Given the description of an element on the screen output the (x, y) to click on. 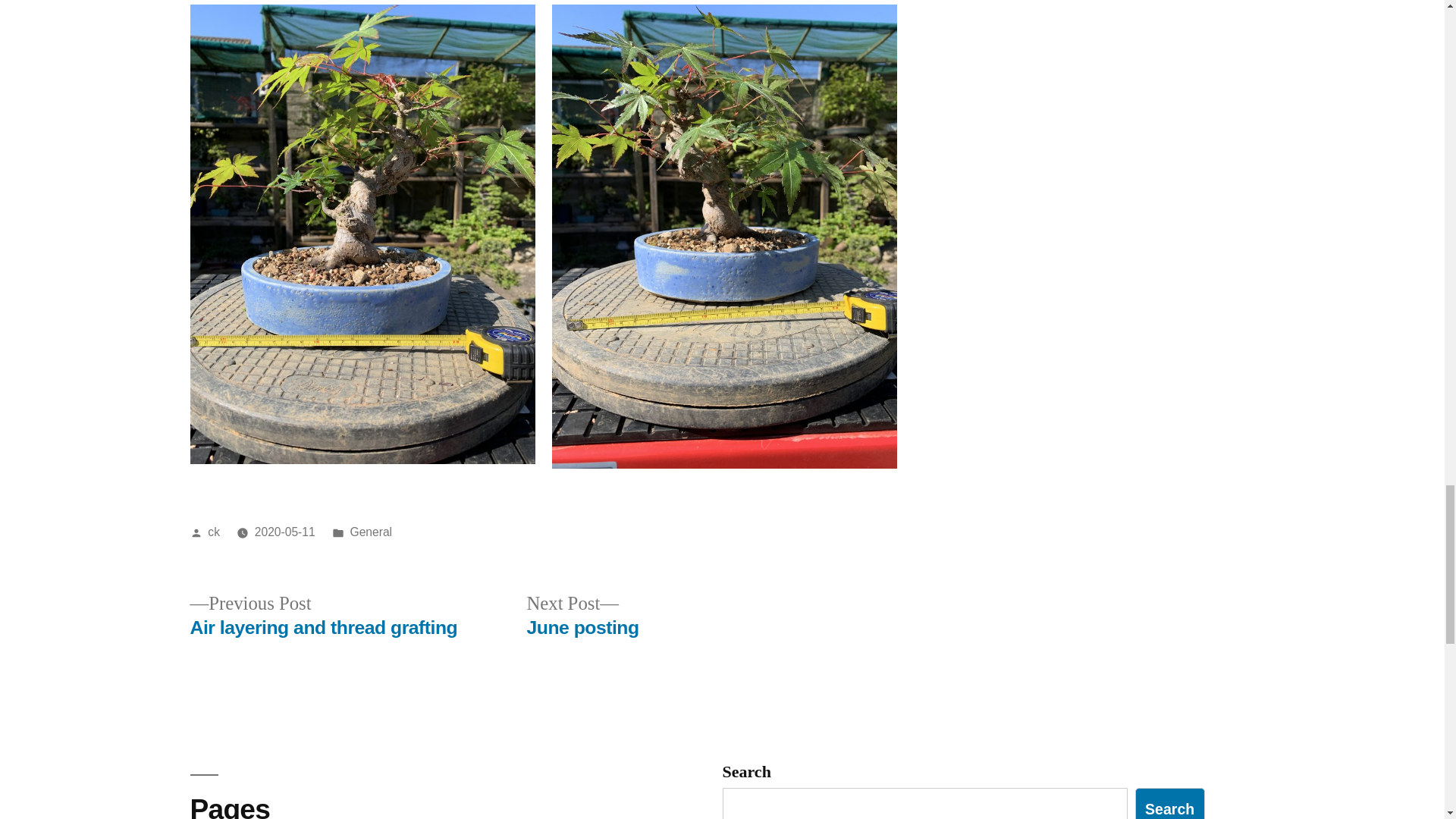
ck (582, 615)
General (213, 531)
2020-05-11 (371, 531)
Search (284, 531)
